Given the description of an element on the screen output the (x, y) to click on. 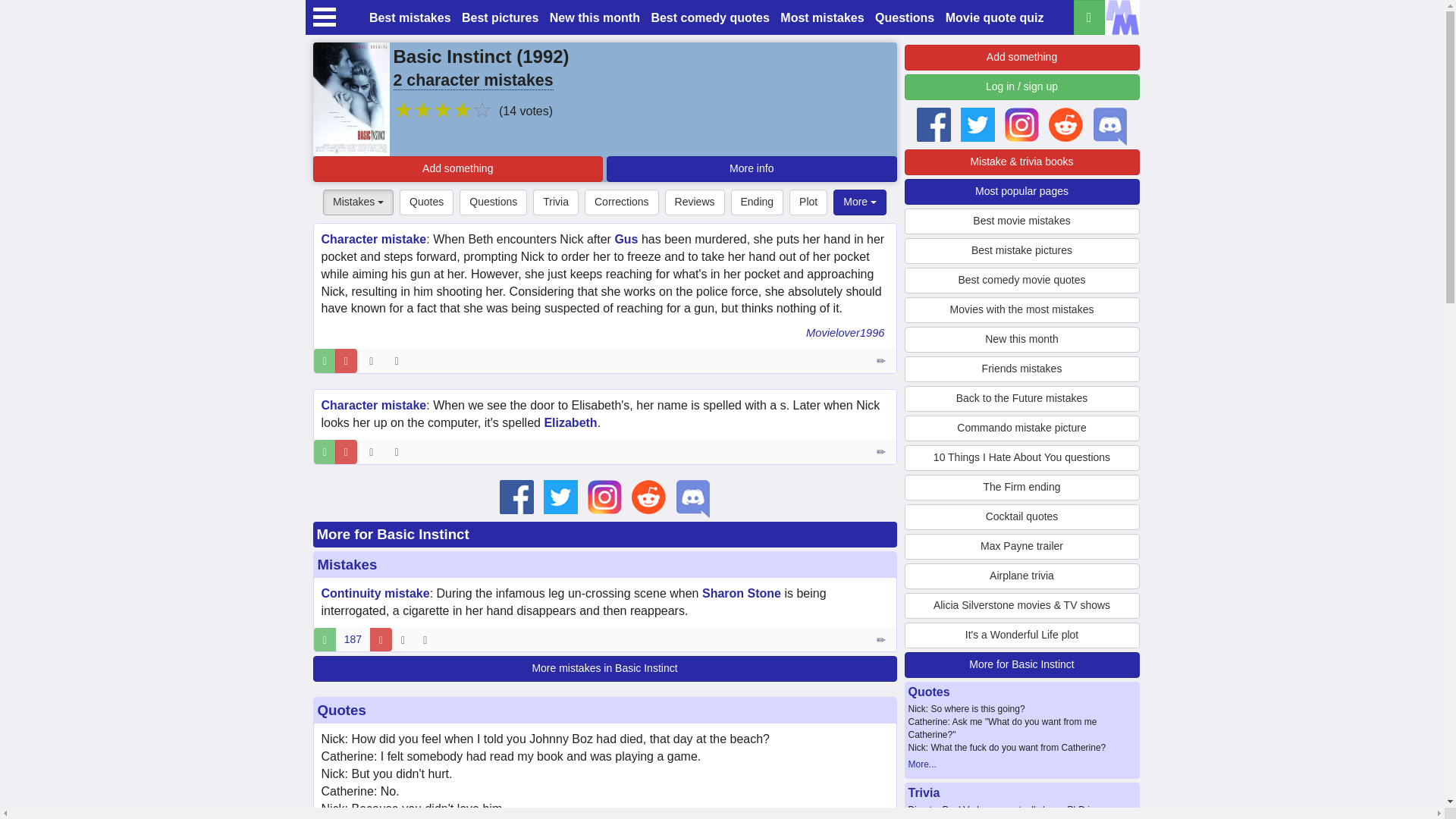
I dislike this (345, 451)
I like this (325, 360)
Share this entry (427, 639)
Entry 206602 (881, 451)
Share this entry (399, 451)
Entry 354700 (881, 360)
I dislike this (345, 360)
I like this (325, 451)
I like this (325, 639)
I dislike this (380, 639)
Share this entry (399, 360)
Entry 801 (881, 639)
